Given the description of an element on the screen output the (x, y) to click on. 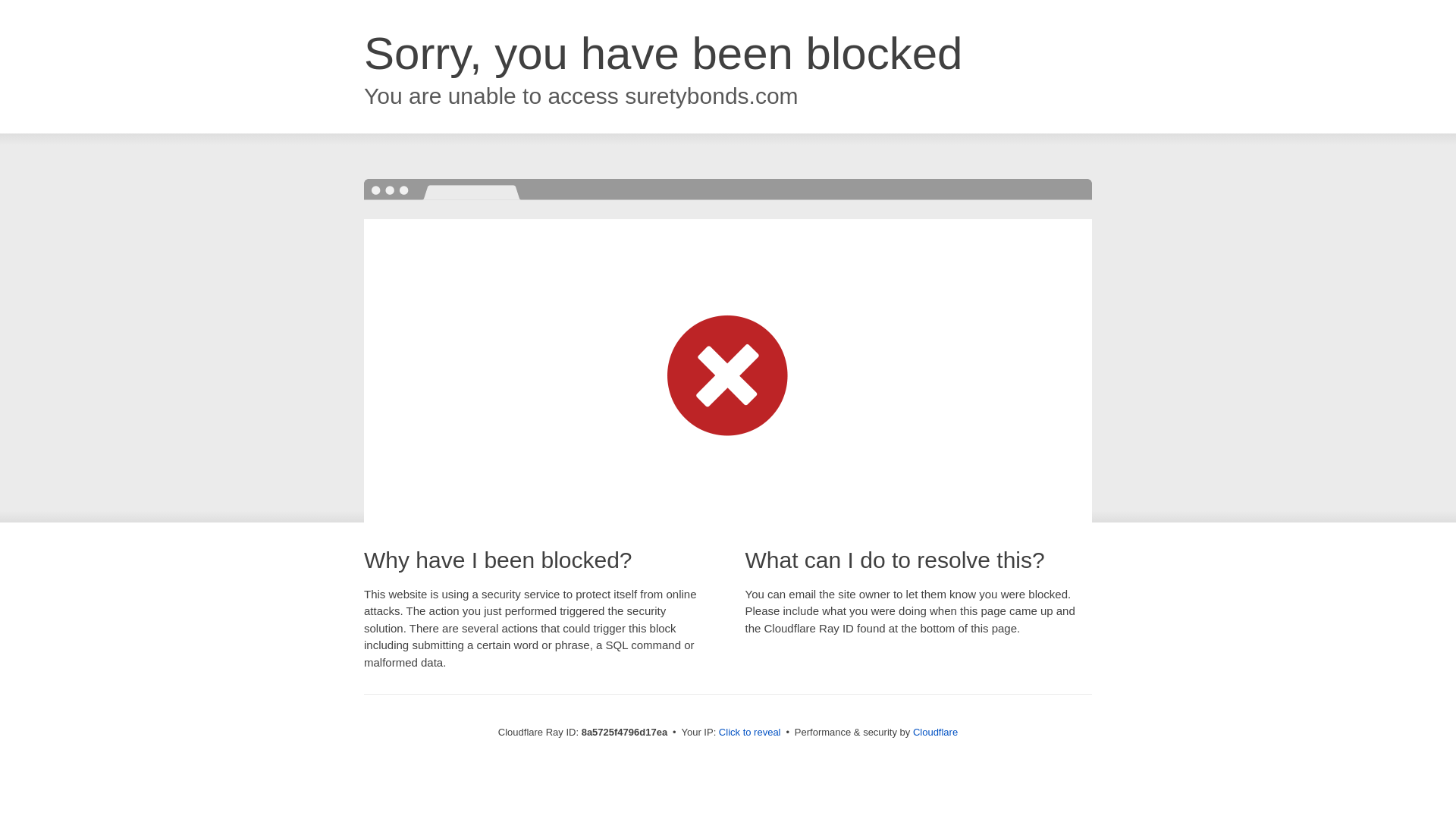
Click to reveal (749, 732)
Cloudflare (935, 731)
